Given the description of an element on the screen output the (x, y) to click on. 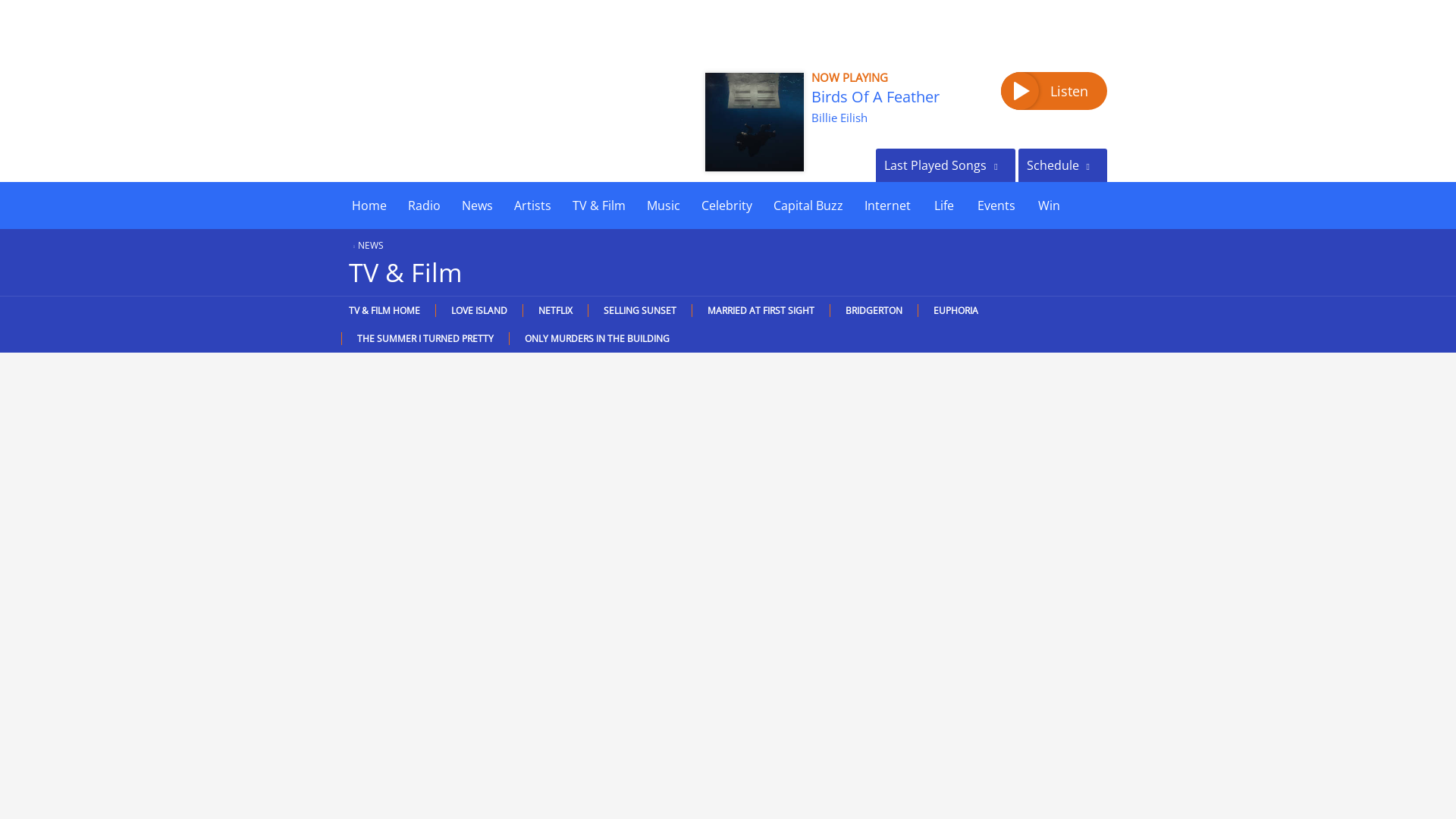
LOVE ISLAND (478, 309)
THE SUMMER I TURNED PRETTY (424, 338)
Capital (438, 103)
Life (943, 205)
Internet (887, 205)
MARRIED AT FIRST SIGHT (760, 309)
SELLING SUNSET (639, 309)
News (477, 205)
Celebrity (726, 205)
EUPHORIA (954, 309)
